Given the description of an element on the screen output the (x, y) to click on. 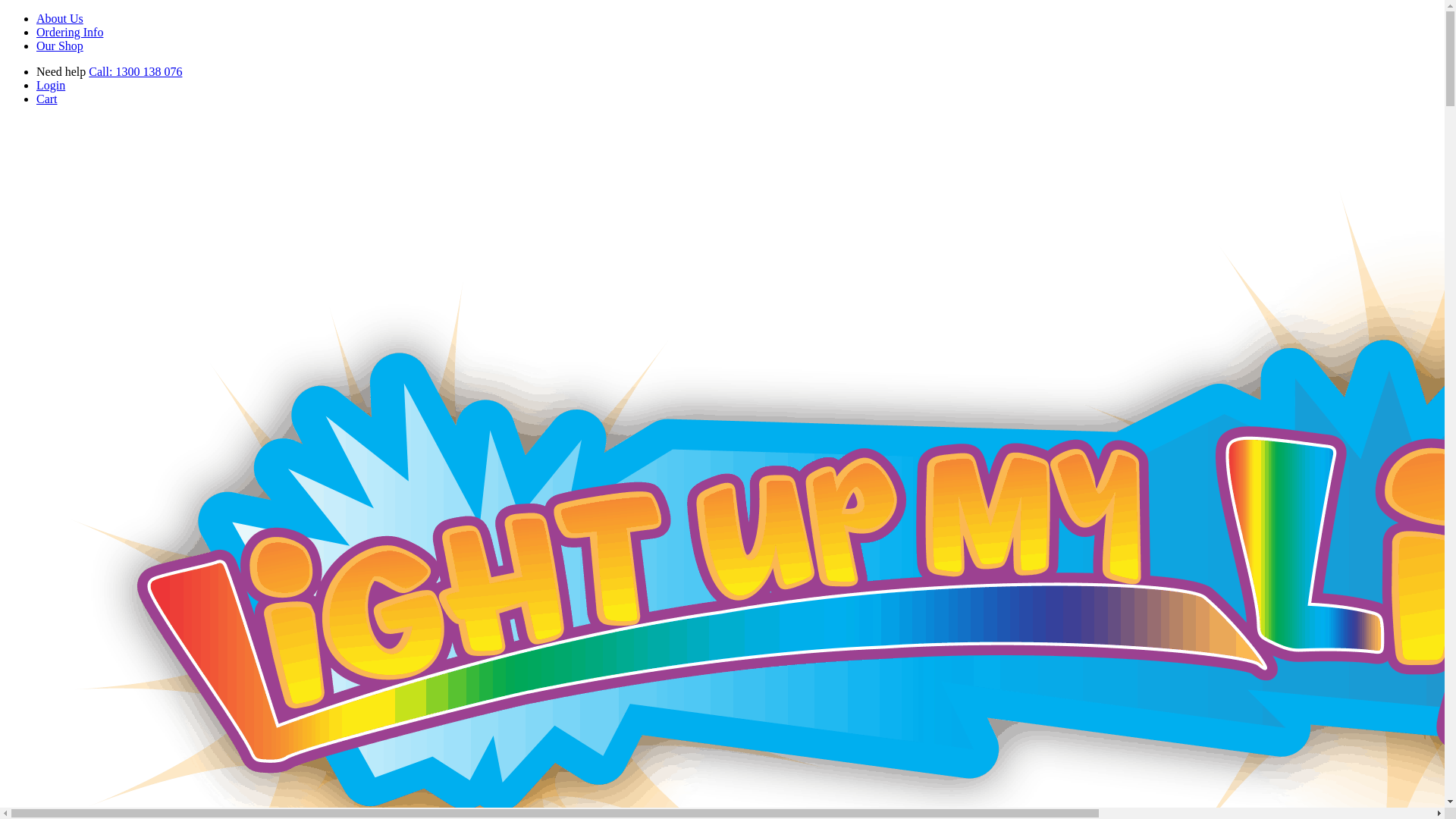
About Us Element type: text (59, 18)
Login Element type: text (50, 84)
Ordering Info Element type: text (69, 31)
Our Shop Element type: text (59, 45)
Cart Element type: text (46, 98)
Call: 1300 138 076 Element type: text (135, 71)
